Given the description of an element on the screen output the (x, y) to click on. 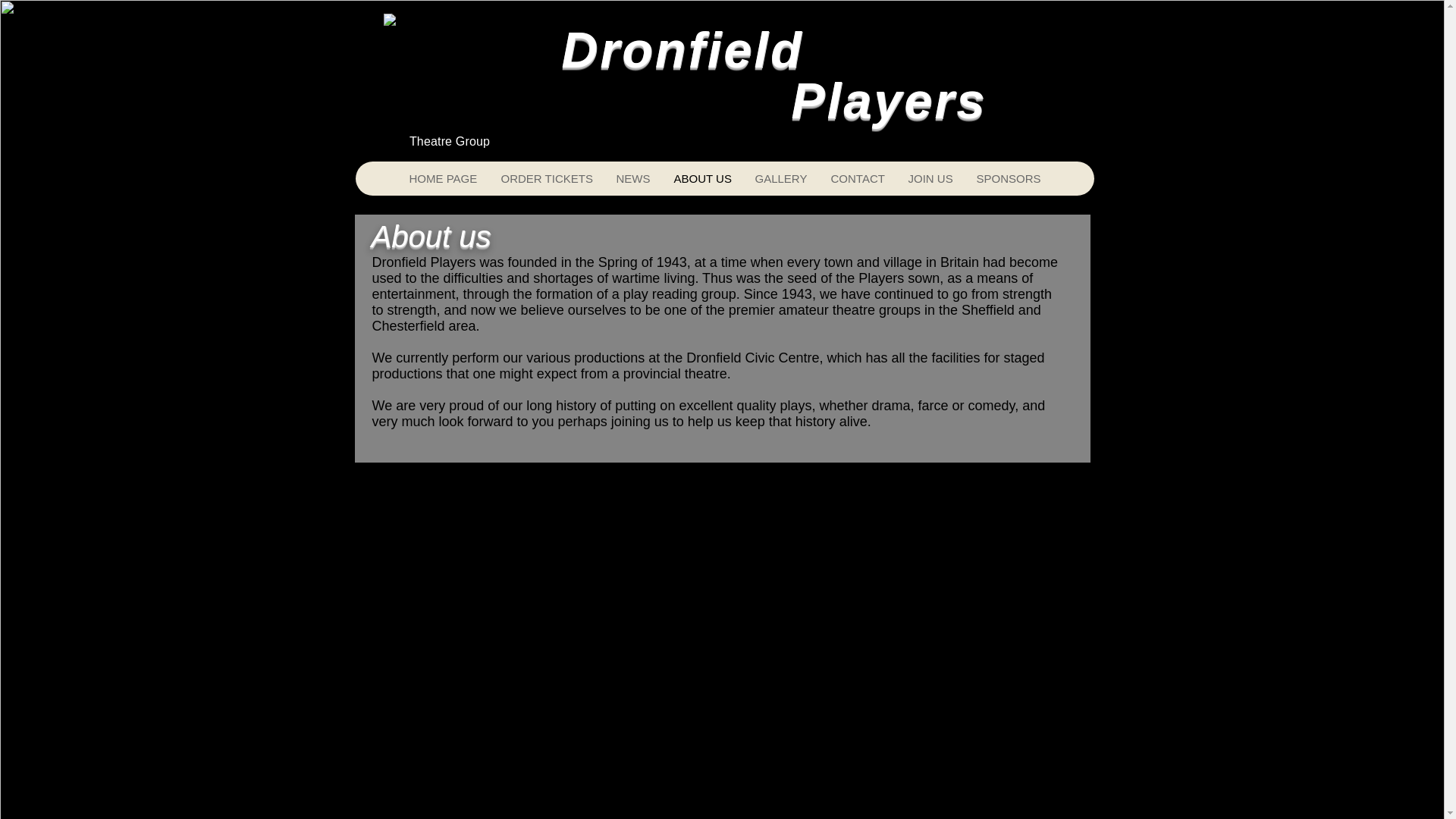
CONTACT (857, 178)
NEWS (632, 178)
JOIN US (929, 178)
GALLERY (780, 178)
HOME PAGE (443, 178)
ABOUT US (701, 178)
ORDER TICKETS (545, 178)
SPONSORS (1007, 178)
